Given the description of an element on the screen output the (x, y) to click on. 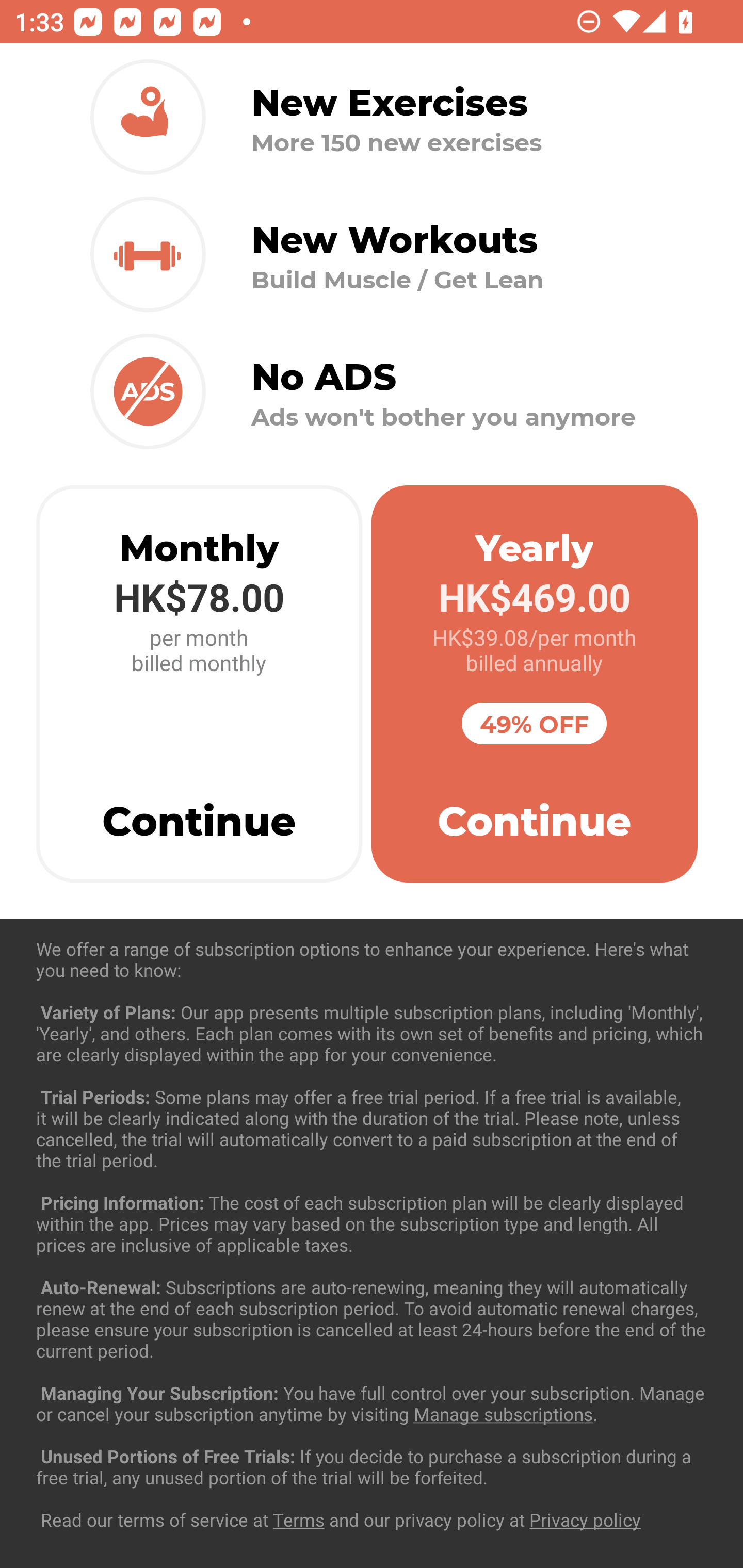
Monthly HK$78.00 per month
billed monthly Continue (199, 684)
Exercise Chest 37 exercises (371, 1033)
Exercise Forearms 4 exercises (371, 1232)
Exercise Legs 36 exercises (371, 1430)
